Given the description of an element on the screen output the (x, y) to click on. 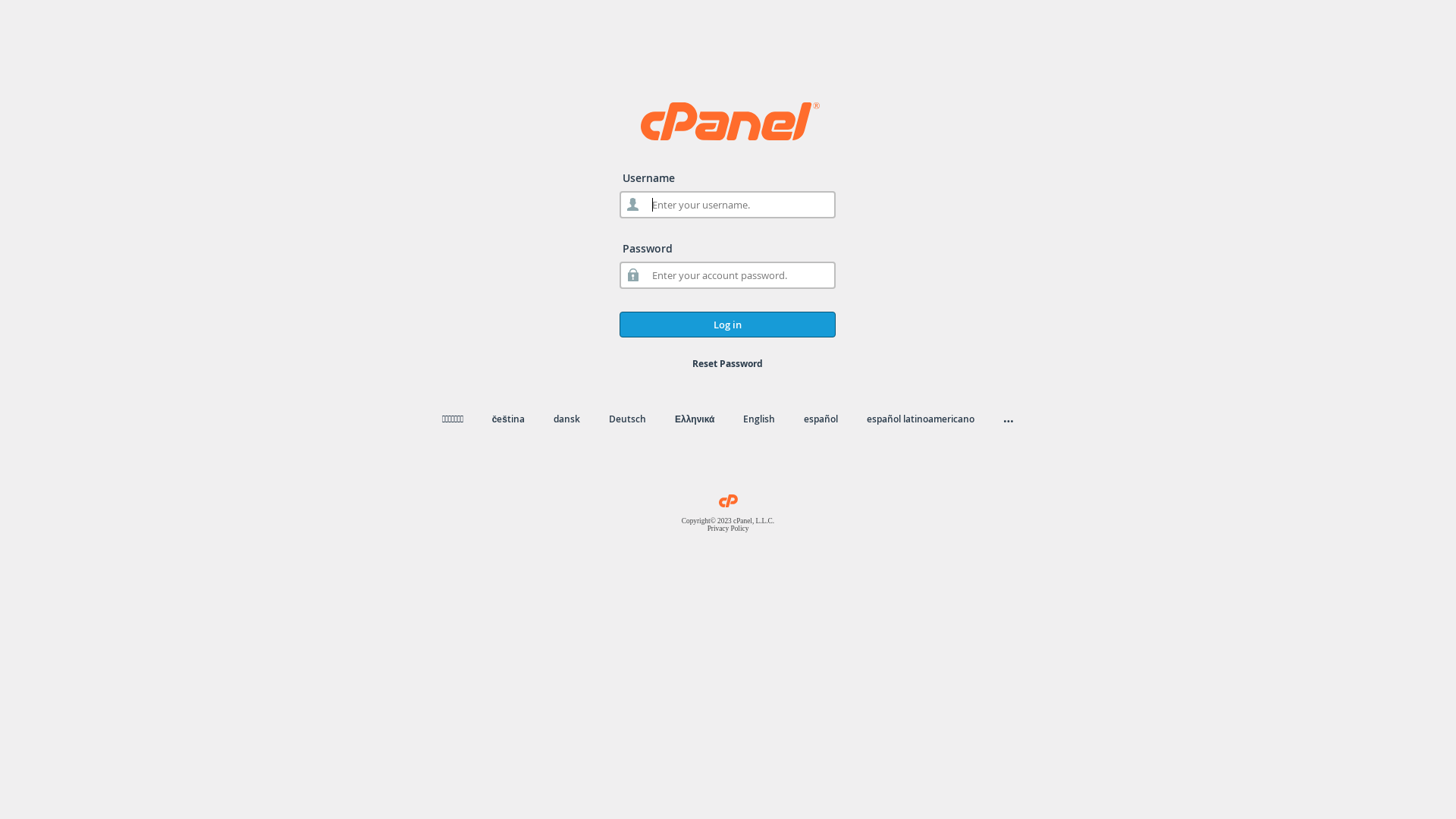
Privacy Policy Element type: text (728, 528)
Deutsch Element type: text (627, 418)
Reset Password Element type: text (727, 363)
dansk Element type: text (566, 418)
English Element type: text (759, 418)
Log in Element type: text (727, 324)
